Given the description of an element on the screen output the (x, y) to click on. 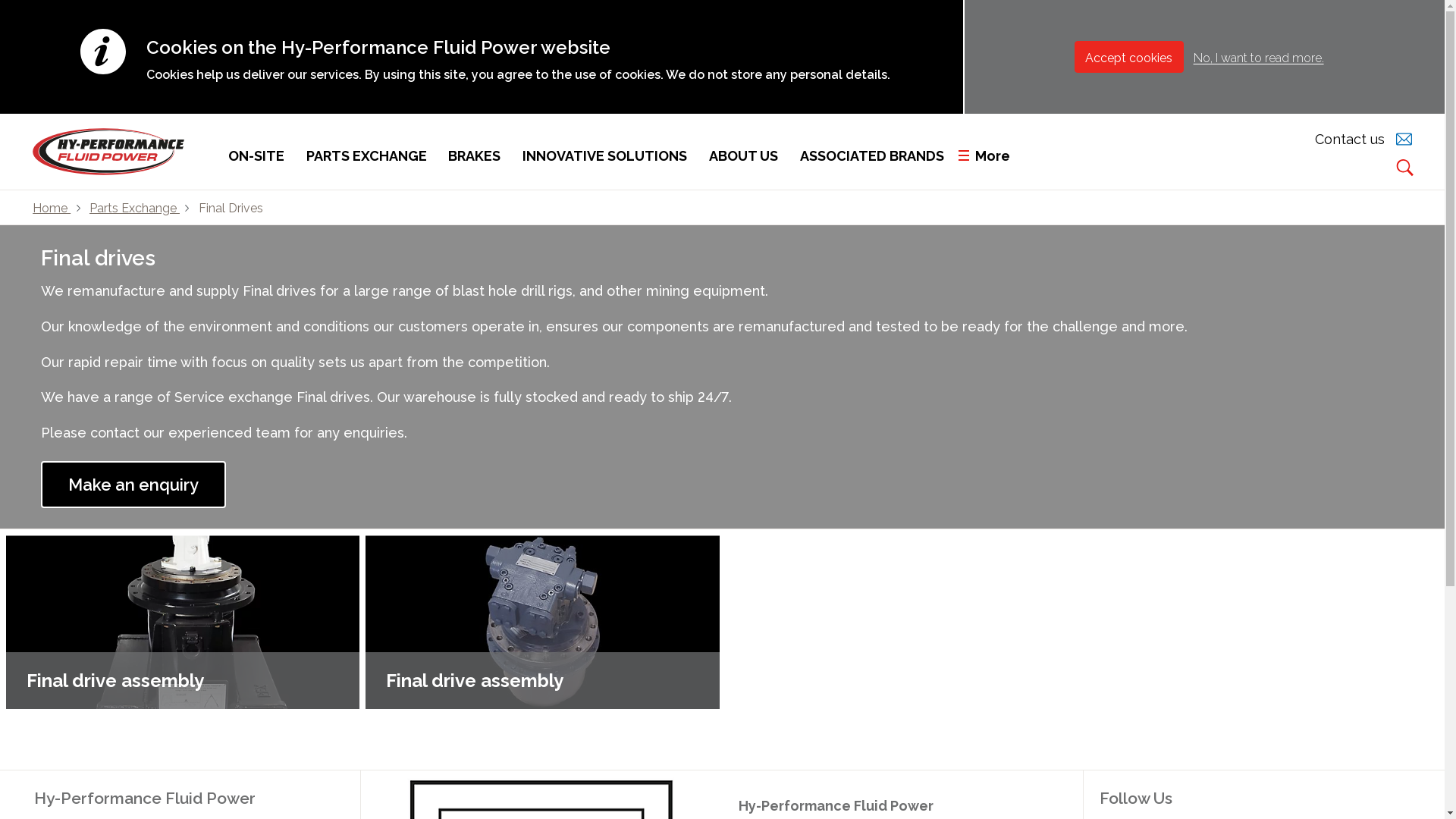
ON-SITE Element type: text (256, 150)
Accept cookies Element type: text (1128, 56)
BRAKES Element type: text (474, 150)
No, I want to read more. Element type: text (1258, 57)
Final drive assembly Element type: text (541, 622)
Final drive assembly Element type: hover (541, 622)
Make an enquiry Element type: text (132, 484)
Final drive assembly Element type: hover (182, 622)
ABOUT US Element type: text (743, 150)
Hy-Performance Fluid Power Element type: text (144, 796)
PARTS EXCHANGE Element type: text (366, 150)
Home Element type: text (53, 206)
Contact us Element type: text (1349, 137)
ASSOCIATED BRANDS Element type: text (872, 150)
Parts Exchange Element type: text (136, 206)
INNOVATIVE SOLUTIONS Element type: text (604, 150)
More Element type: text (990, 150)
Final drive assembly Element type: text (182, 622)
Hy-Performance Fluid Power Element type: text (902, 803)
